Given the description of an element on the screen output the (x, y) to click on. 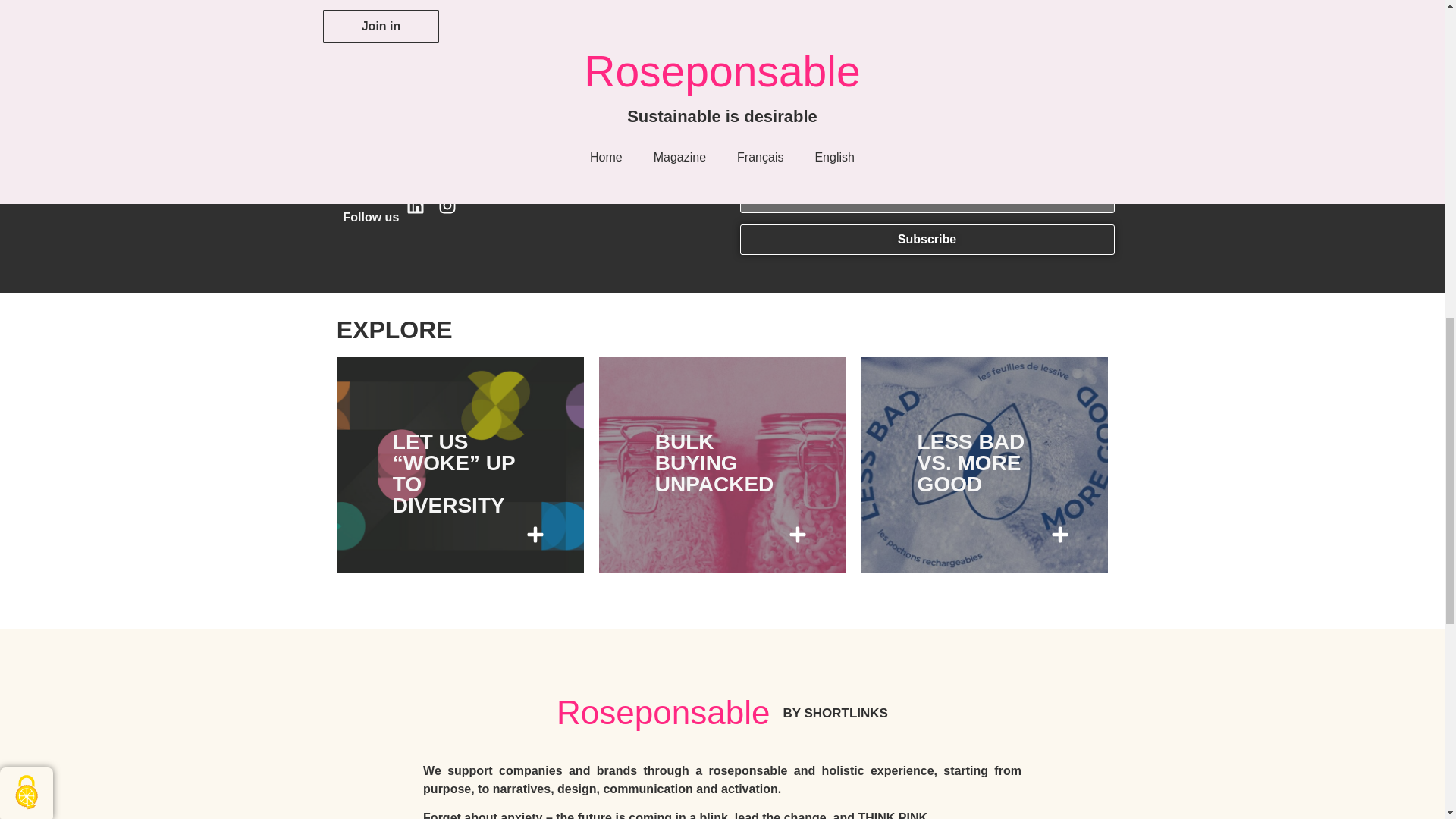
LESS BAD VS. MORE GOOD (971, 462)
Bulk buying unpacked (714, 462)
Subscribe (927, 239)
Subscribe (927, 239)
Less bad vs. more good (971, 462)
BULK BUYING UNPACKED (714, 462)
